Given the description of an element on the screen output the (x, y) to click on. 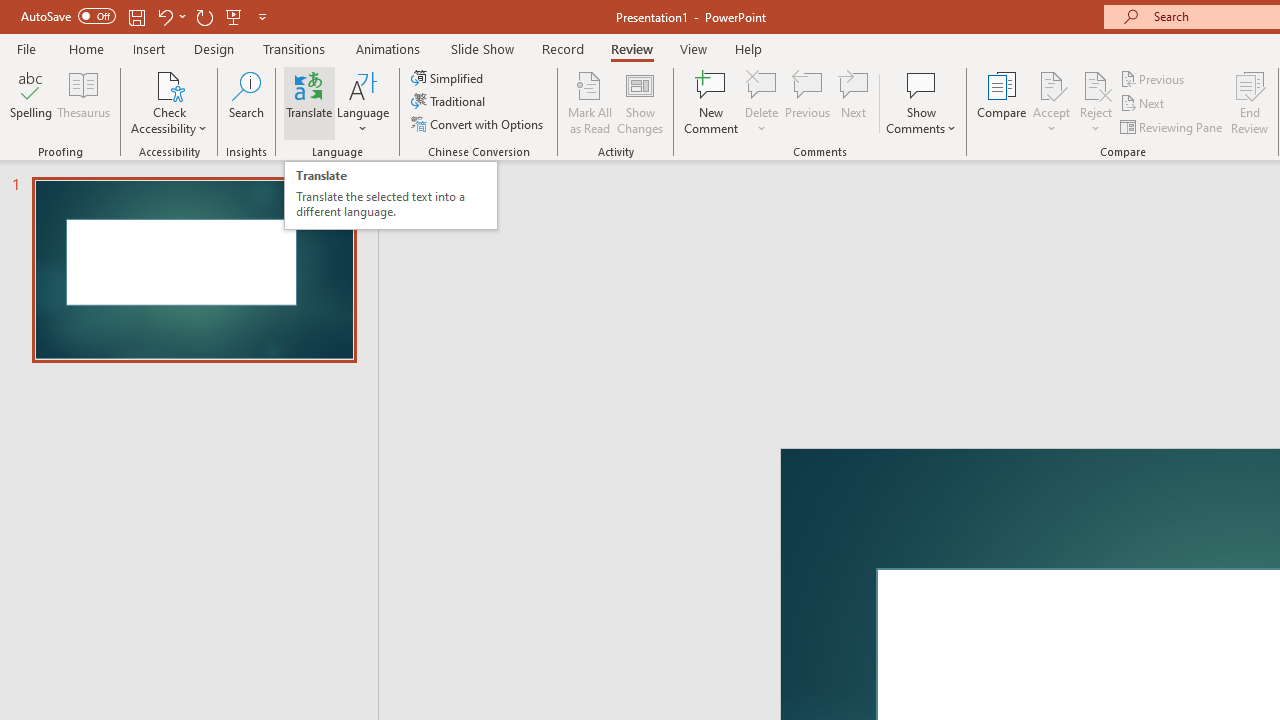
End Review (1249, 102)
Traditional (449, 101)
Previous (1153, 78)
Convert with Options... (479, 124)
